Given the description of an element on the screen output the (x, y) to click on. 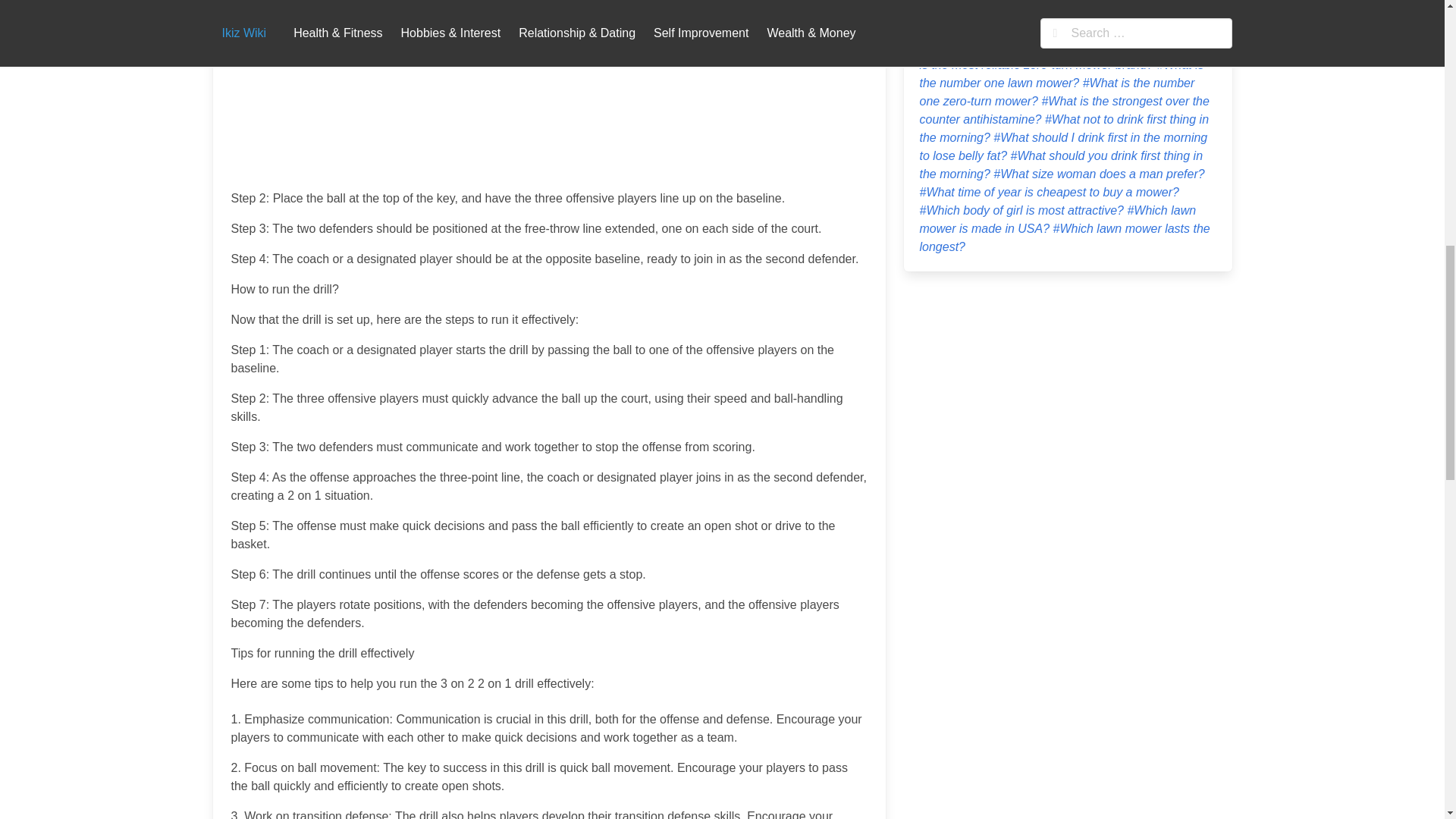
Advertisement (548, 91)
